Given the description of an element on the screen output the (x, y) to click on. 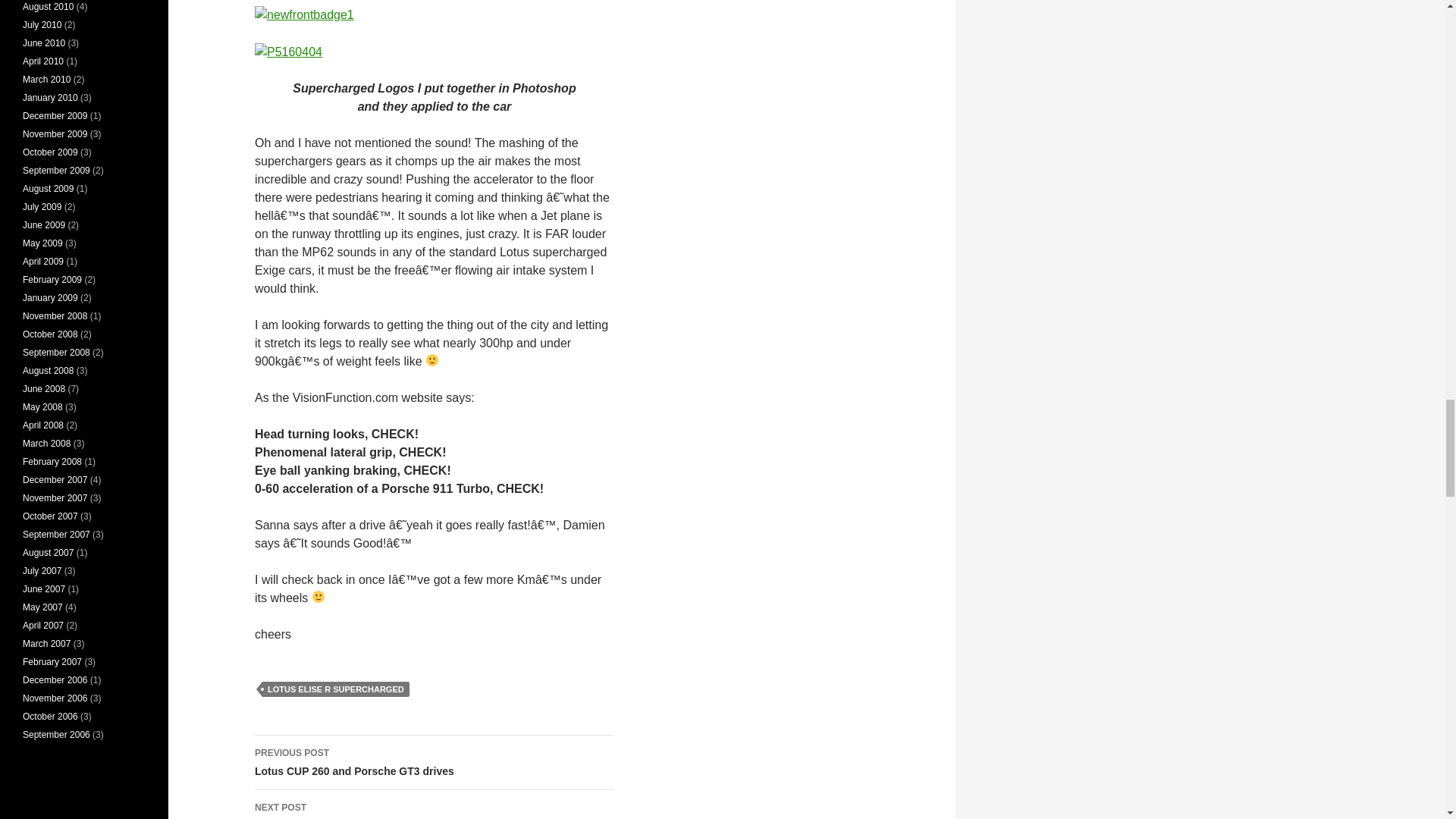
newfrontbadge1 (303, 14)
LOTUS ELISE R SUPERCHARGED (434, 762)
P5160404 (335, 688)
